Given the description of an element on the screen output the (x, y) to click on. 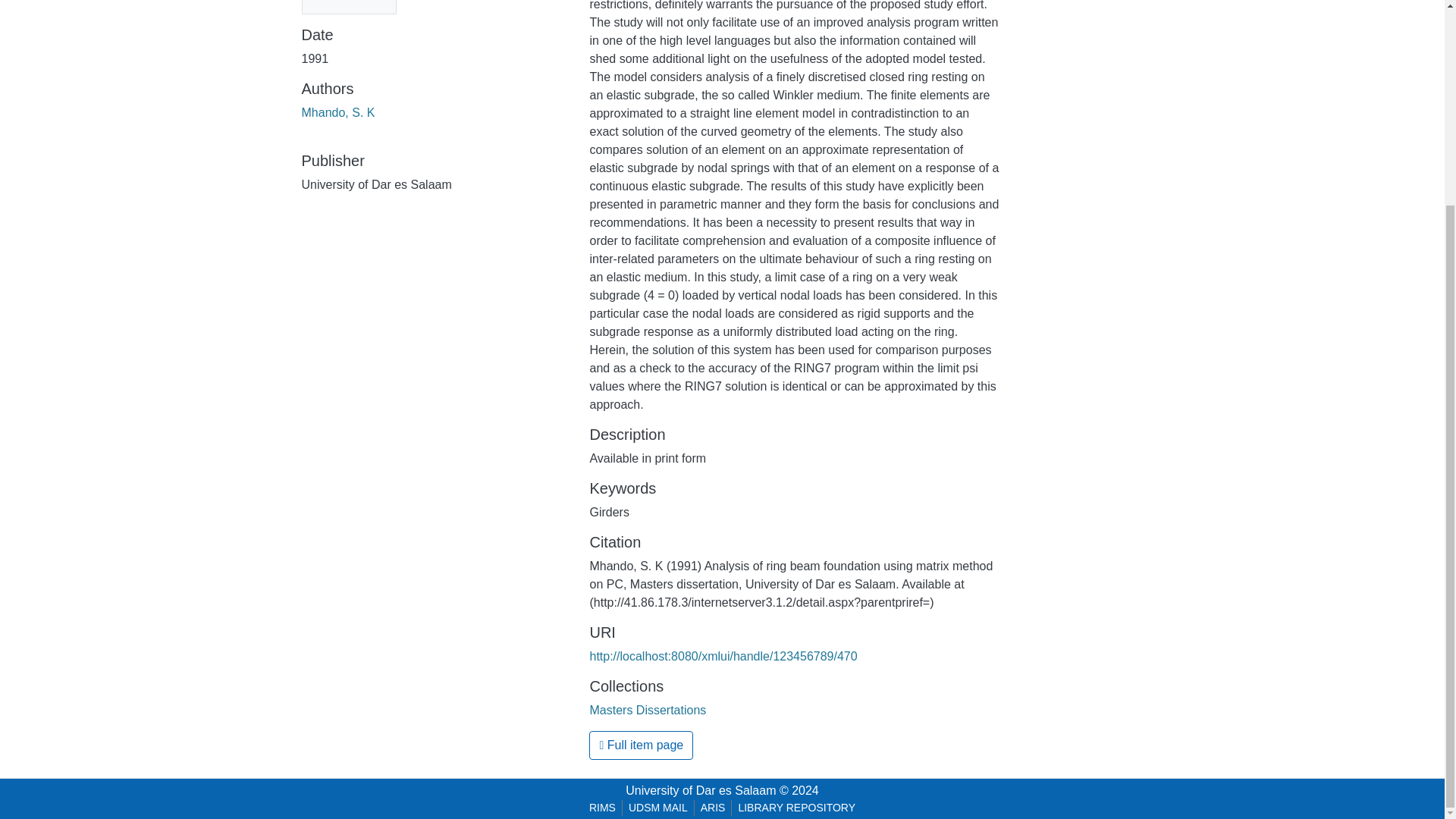
ARIS (713, 807)
RIMS (602, 807)
UDSM MAIL (658, 807)
Full item page (641, 745)
Mhando, S. K (338, 112)
Masters Dissertations (647, 709)
LIBRARY REPOSITORY (796, 807)
